Given the description of an element on the screen output the (x, y) to click on. 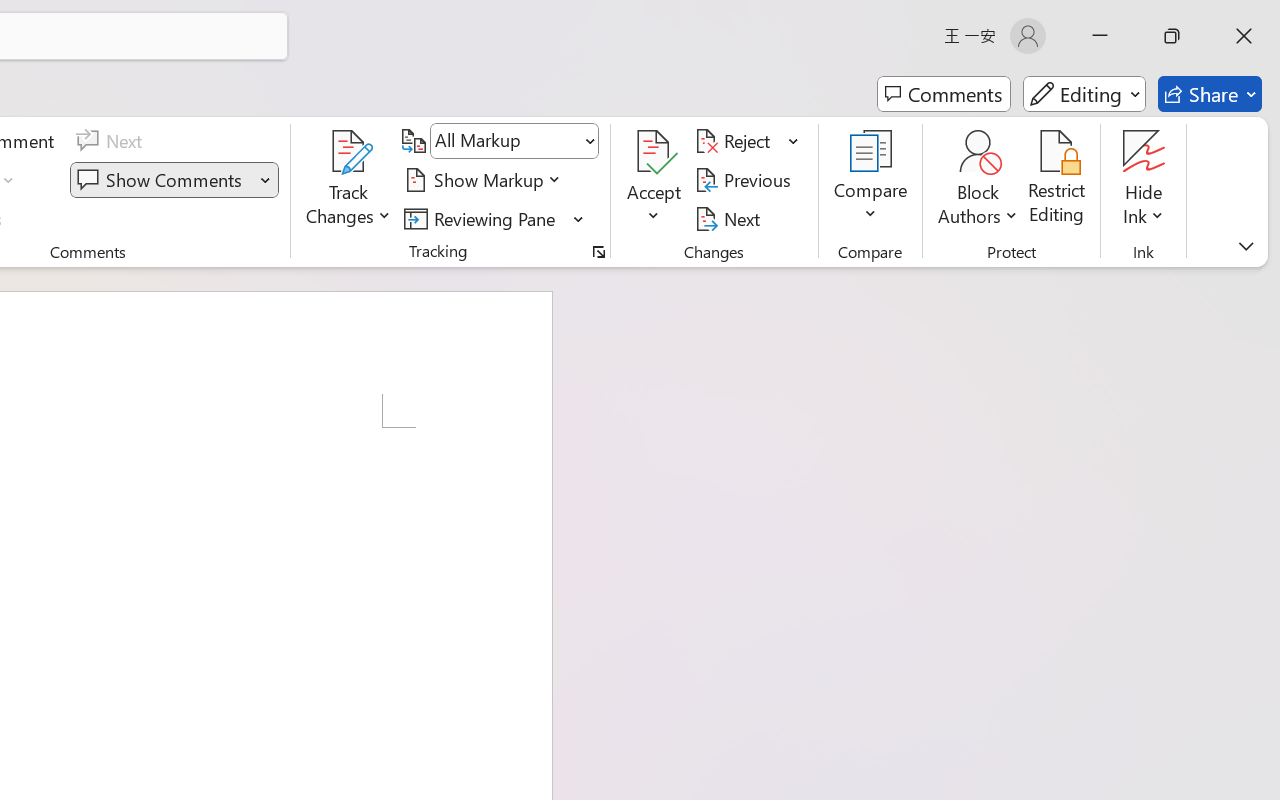
Hide Ink (1144, 179)
Block Authors (977, 179)
Block Authors (977, 151)
Reject and Move to Next (735, 141)
Show Comments (162, 179)
Accept (653, 179)
Open (588, 141)
Display for Review (514, 141)
Restrict Editing (1057, 179)
Compare (870, 179)
